Given the description of an element on the screen output the (x, y) to click on. 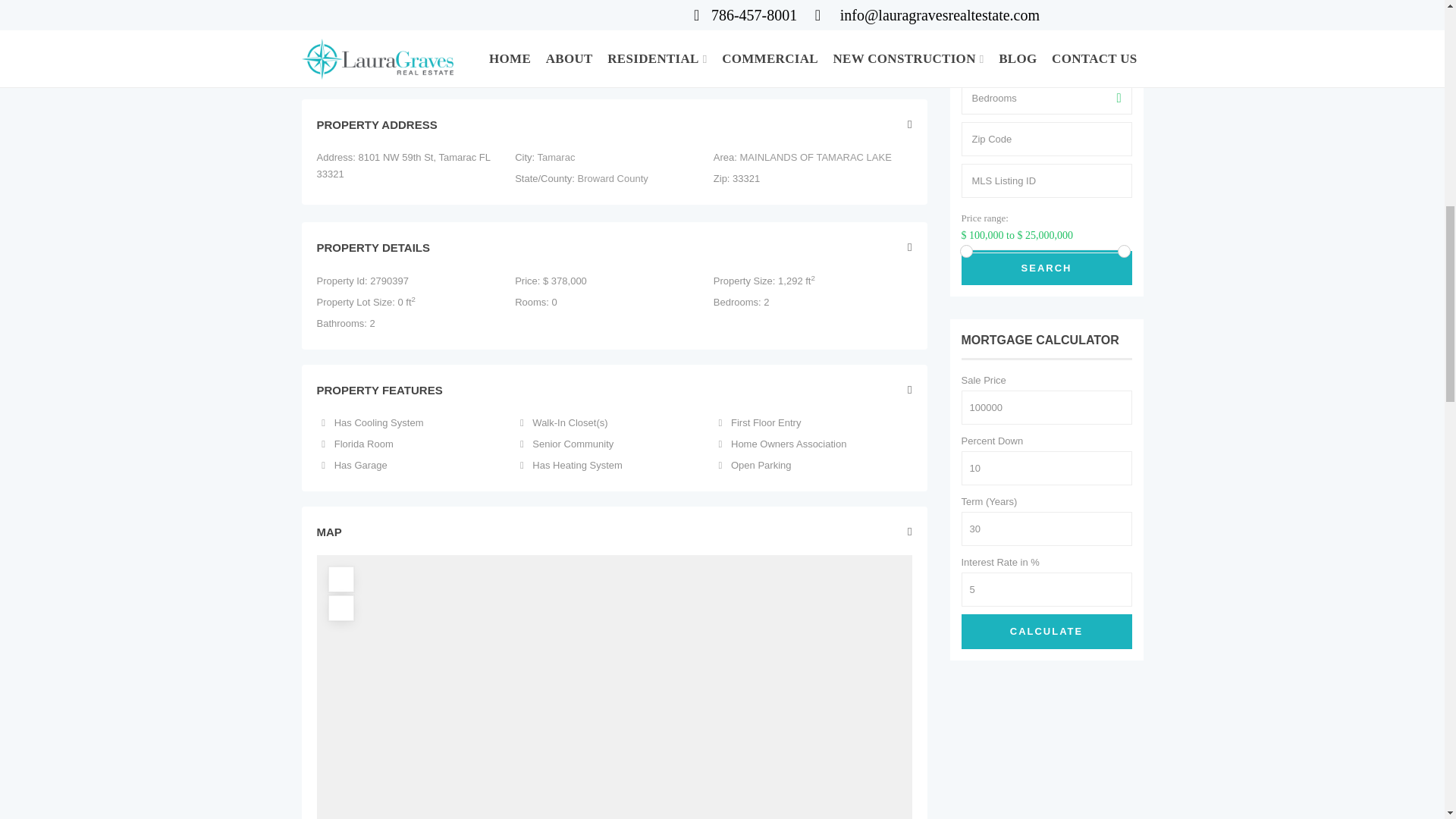
100000 (1046, 407)
30 (1046, 528)
10 (1046, 468)
5 (1046, 589)
